Given the description of an element on the screen output the (x, y) to click on. 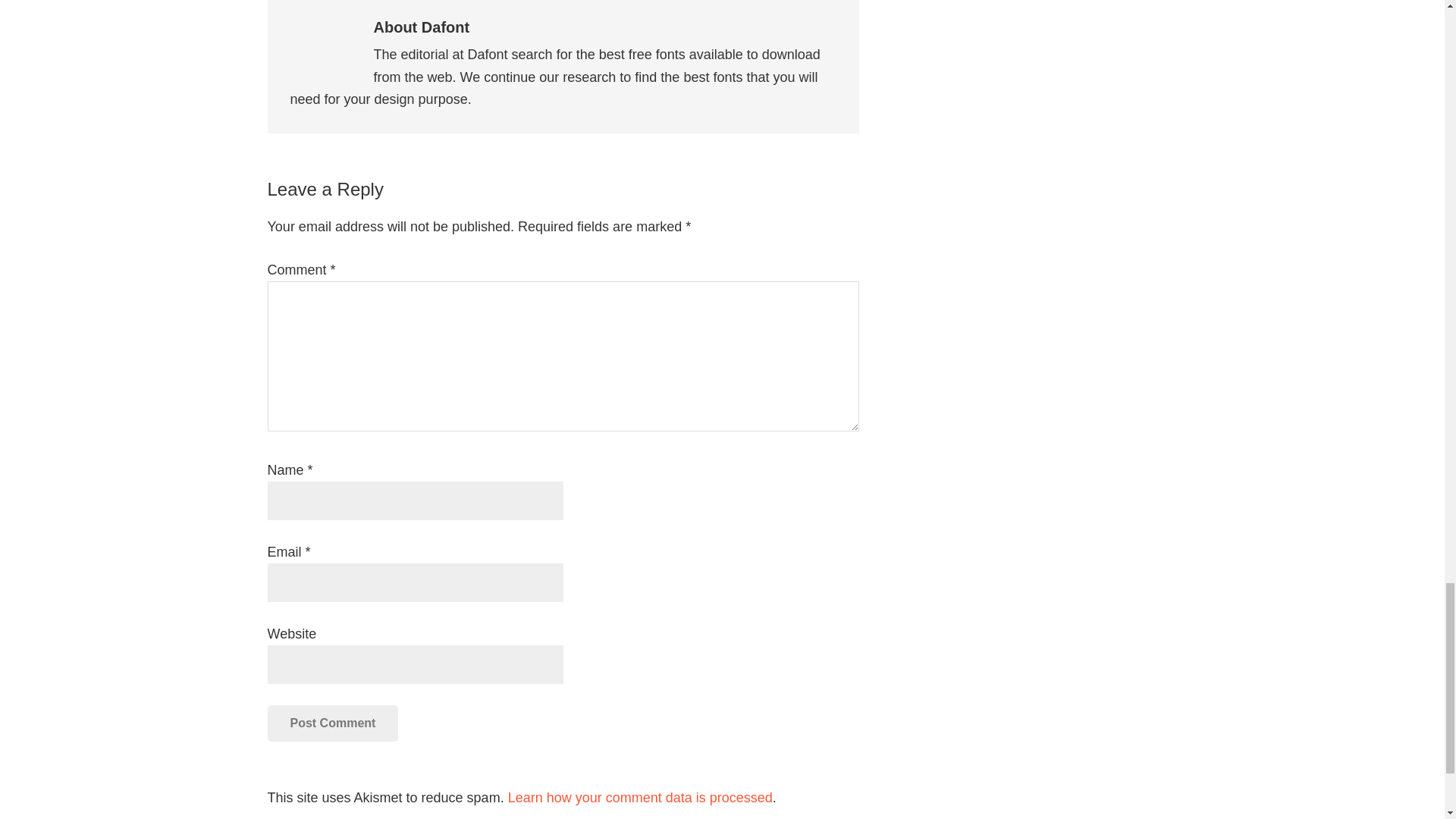
Learn how your comment data is processed (640, 797)
Post Comment (331, 723)
Post Comment (331, 723)
